Given the description of an element on the screen output the (x, y) to click on. 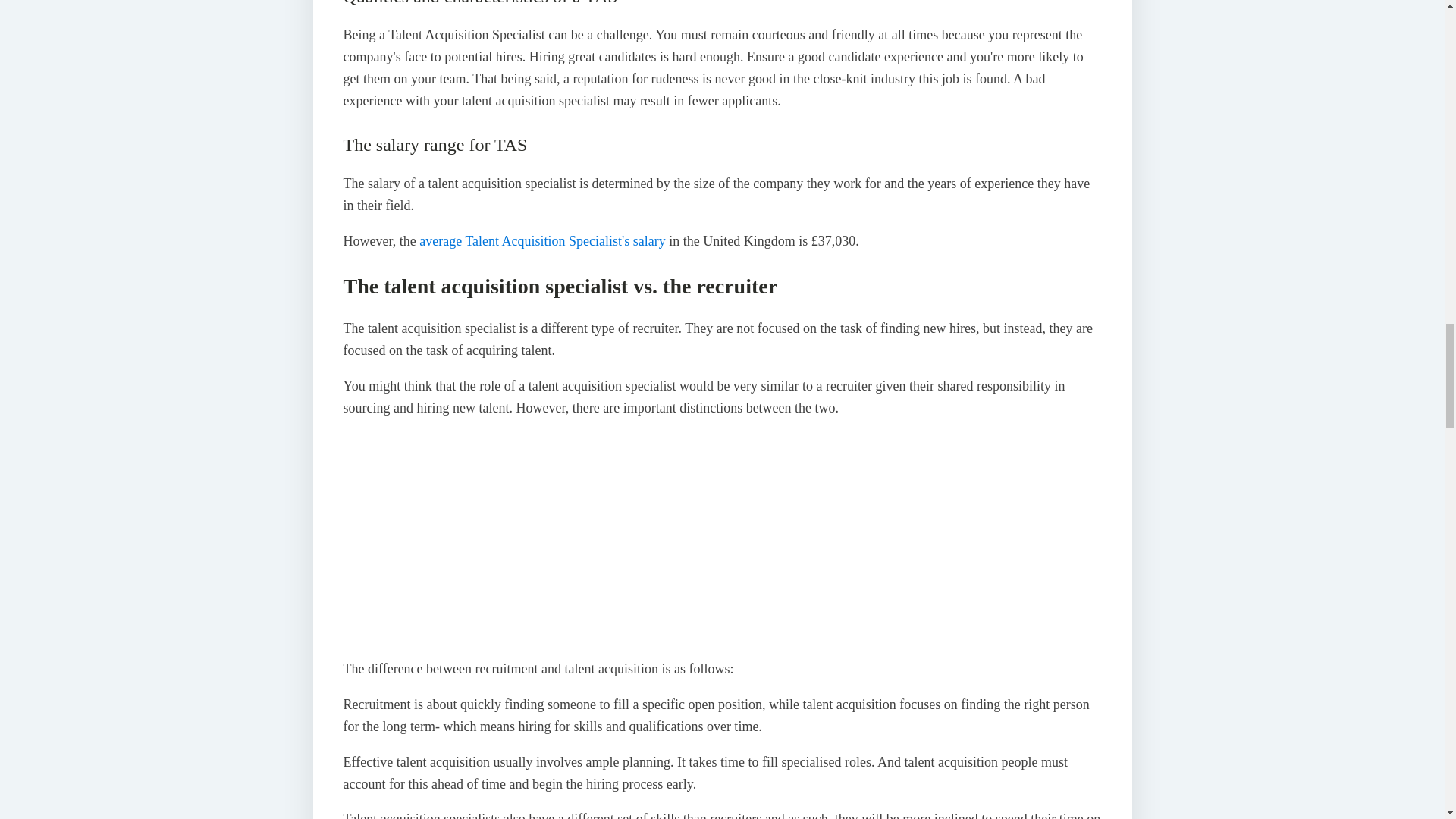
average Talent Acquisition Specialist's salary (542, 240)
